Given the description of an element on the screen output the (x, y) to click on. 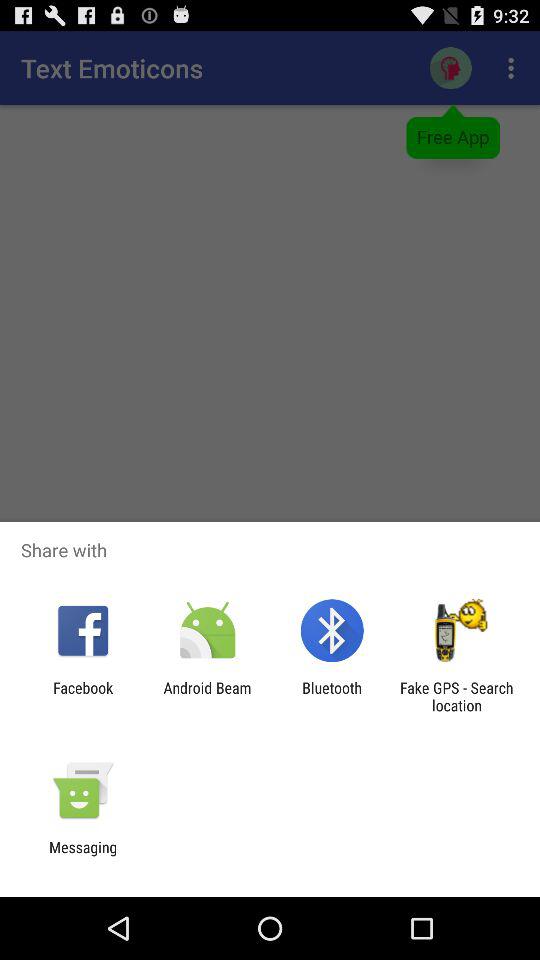
turn off item next to android beam icon (83, 696)
